Given the description of an element on the screen output the (x, y) to click on. 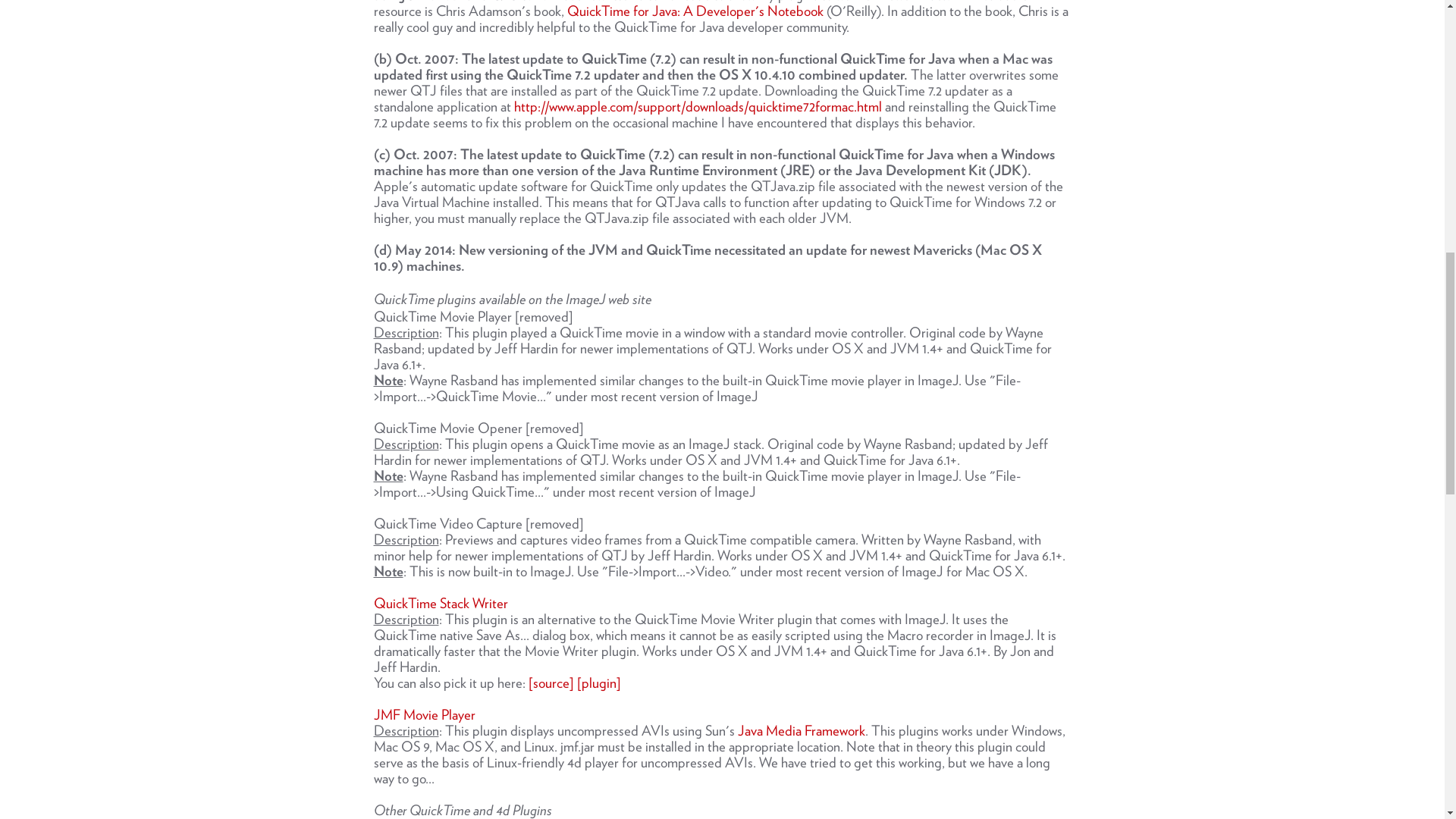
QuickTime for Java: A Developer's Notebook (697, 9)
Java Media Framework (800, 730)
QuickTime Stack Writer (439, 602)
JMF Movie Player (423, 713)
